Given the description of an element on the screen output the (x, y) to click on. 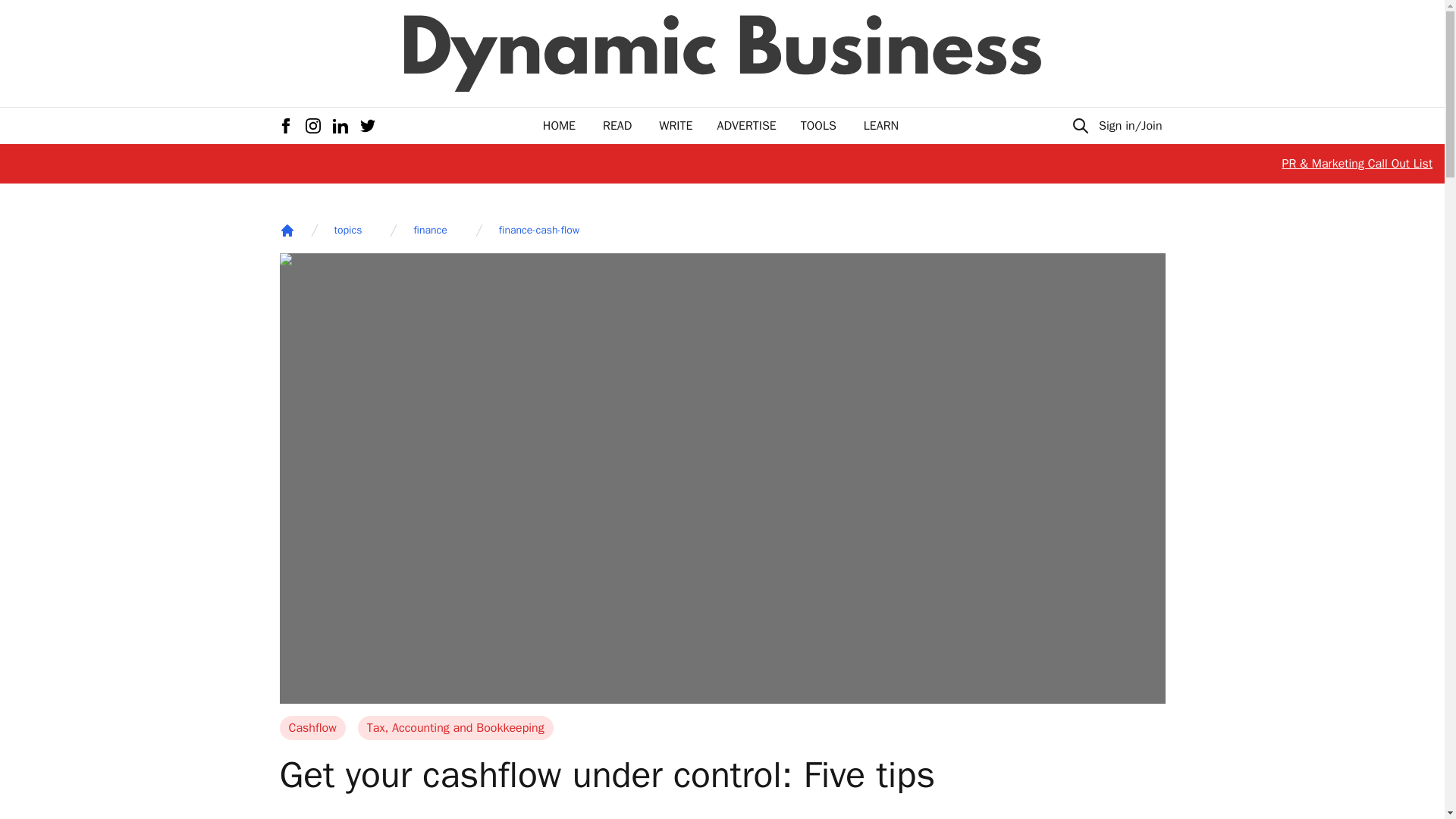
LEARN (880, 126)
Cashflow (312, 727)
finance (429, 230)
topics (347, 230)
ADVERTISE (746, 126)
READ (616, 126)
Home (286, 230)
WRITE (676, 126)
TOOLS (817, 126)
HOME (559, 126)
Tax, Accounting and Bookkeeping (455, 727)
finance-cash-flow (539, 230)
